Given the description of an element on the screen output the (x, y) to click on. 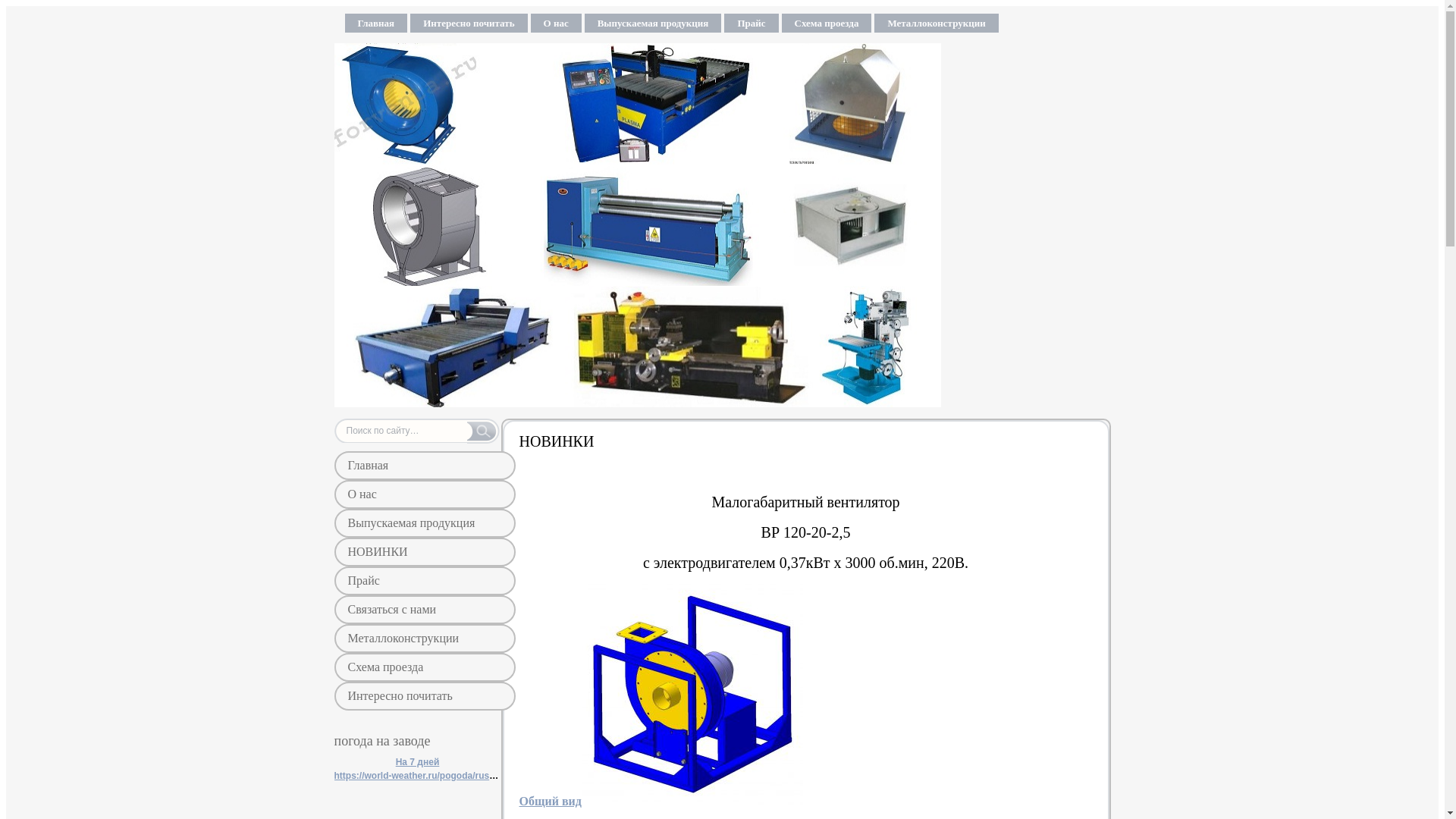
https://world-weather.ru/pogoda/russia/vladivostok/ Element type: text (444, 775)
